Given the description of an element on the screen output the (x, y) to click on. 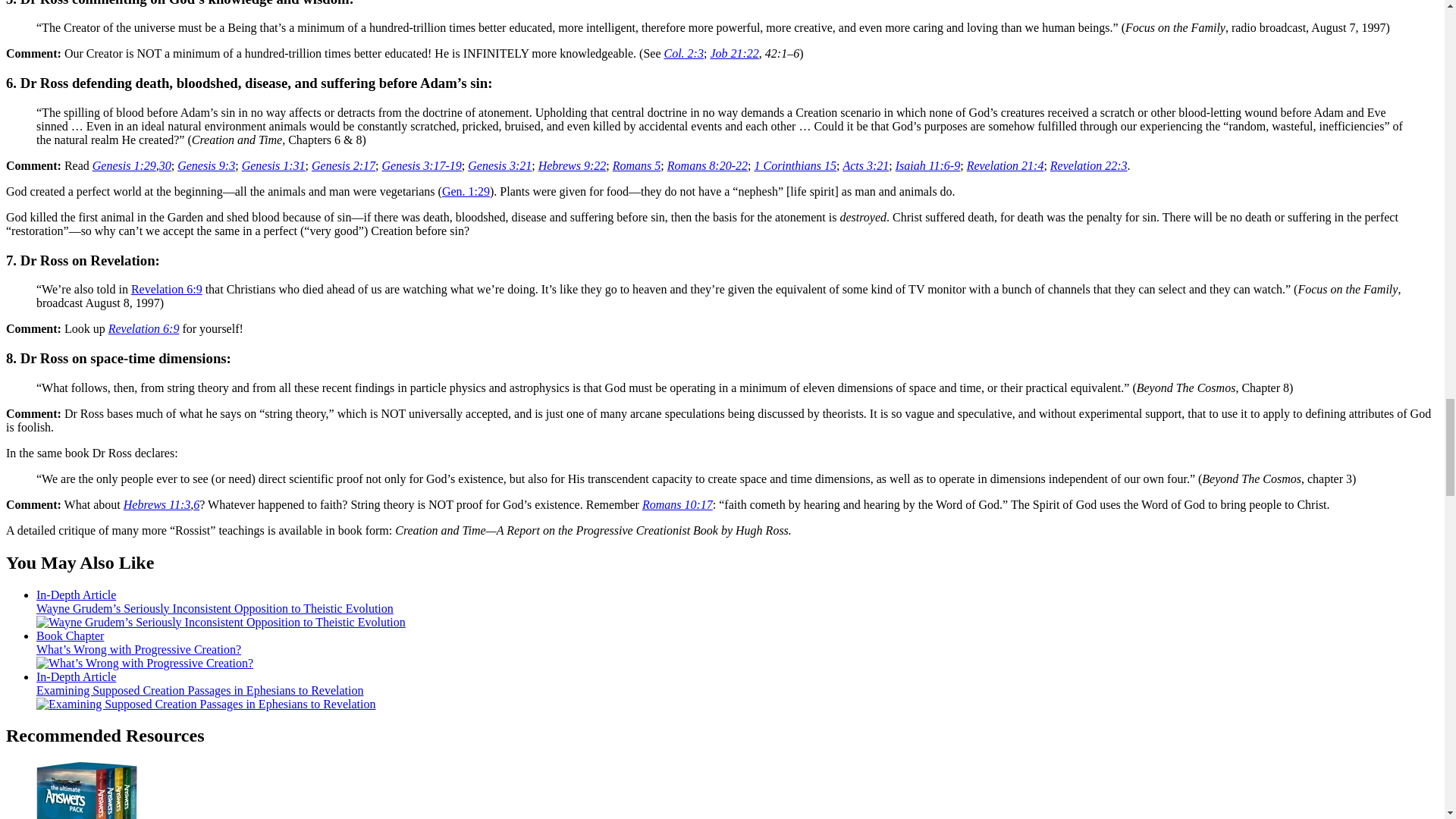
1 Corinthians 15:1 (794, 164)
Romans 5:1 (636, 164)
